Given the description of an element on the screen output the (x, y) to click on. 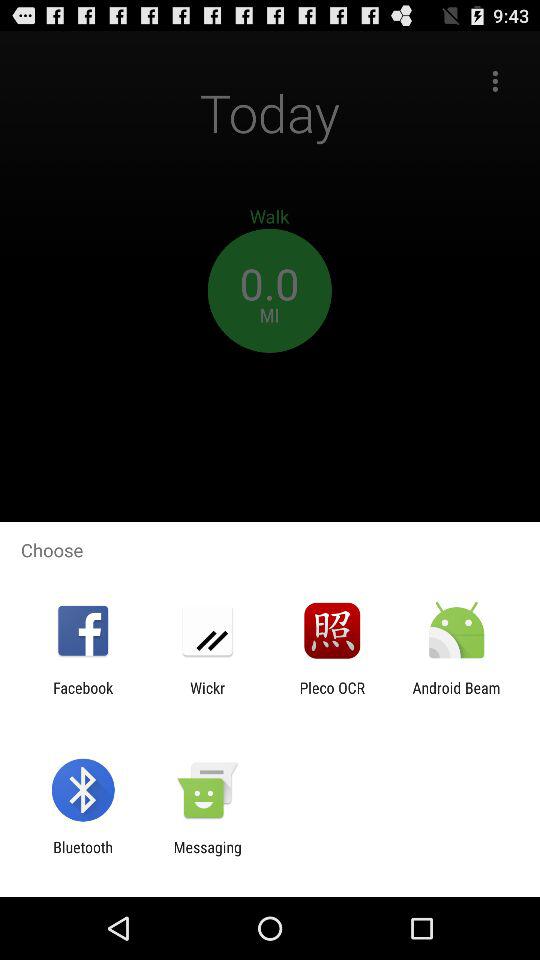
choose app to the right of bluetooth (207, 856)
